Given the description of an element on the screen output the (x, y) to click on. 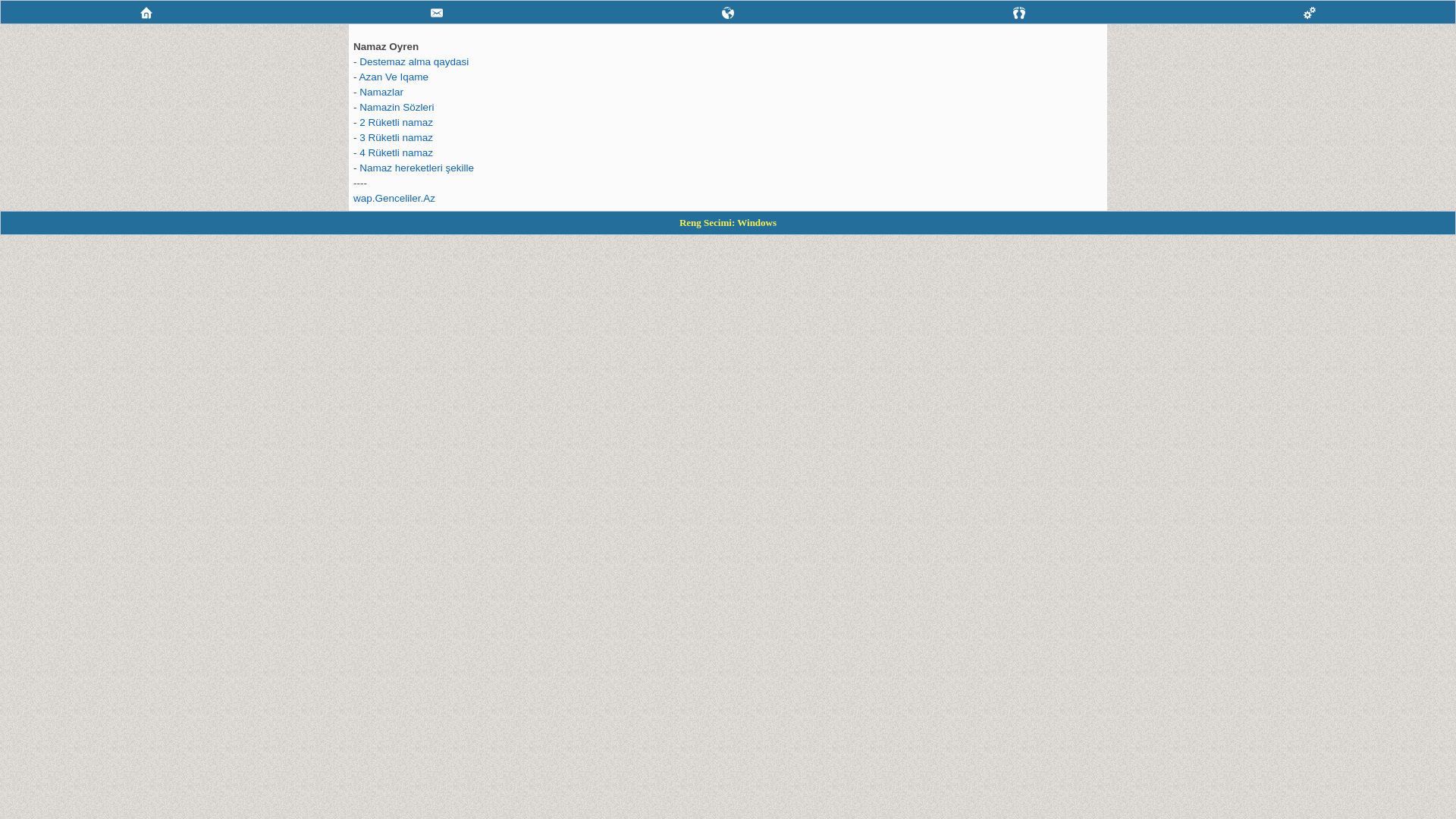
Mektublar Element type: hover (727, 12)
Mesajlar Element type: hover (436, 12)
Azan Ve Iqame Element type: text (394, 76)
Mektublar Element type: hover (727, 11)
Qonaqlar Element type: hover (1019, 12)
Destemaz alma qaydasi Element type: text (413, 61)
Hom Element type: hover (146, 12)
Reng Secimi: Windows Element type: text (727, 222)
Hom Element type: hover (145, 11)
Namazlar Element type: text (381, 91)
Qonaqlar Element type: hover (1018, 11)
Mesajlar Element type: hover (437, 11)
wap.Genceliler.Az Element type: text (394, 197)
